Given the description of an element on the screen output the (x, y) to click on. 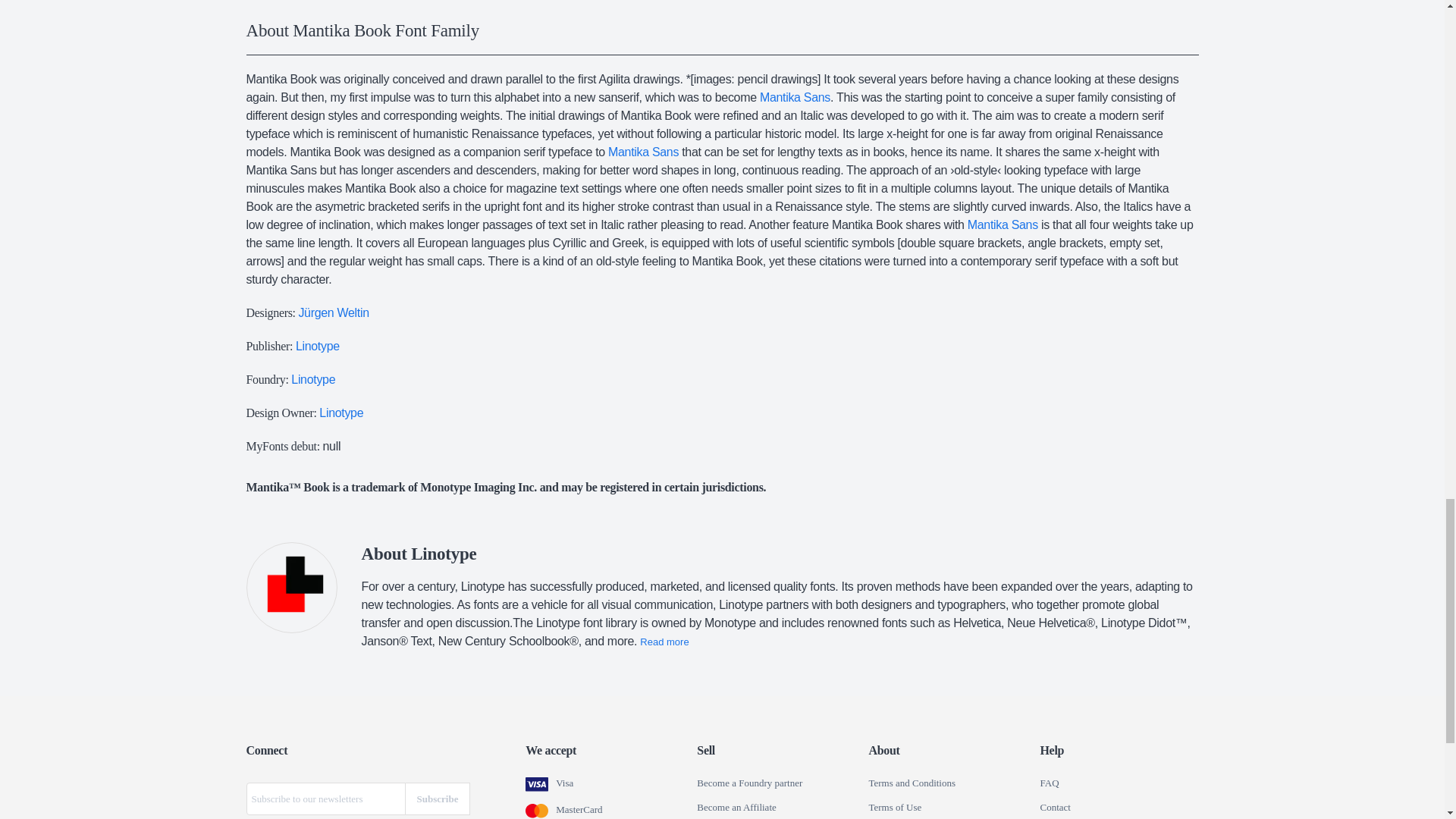
Please fill out this field (325, 798)
Become a Foundry partner (749, 783)
